Given the description of an element on the screen output the (x, y) to click on. 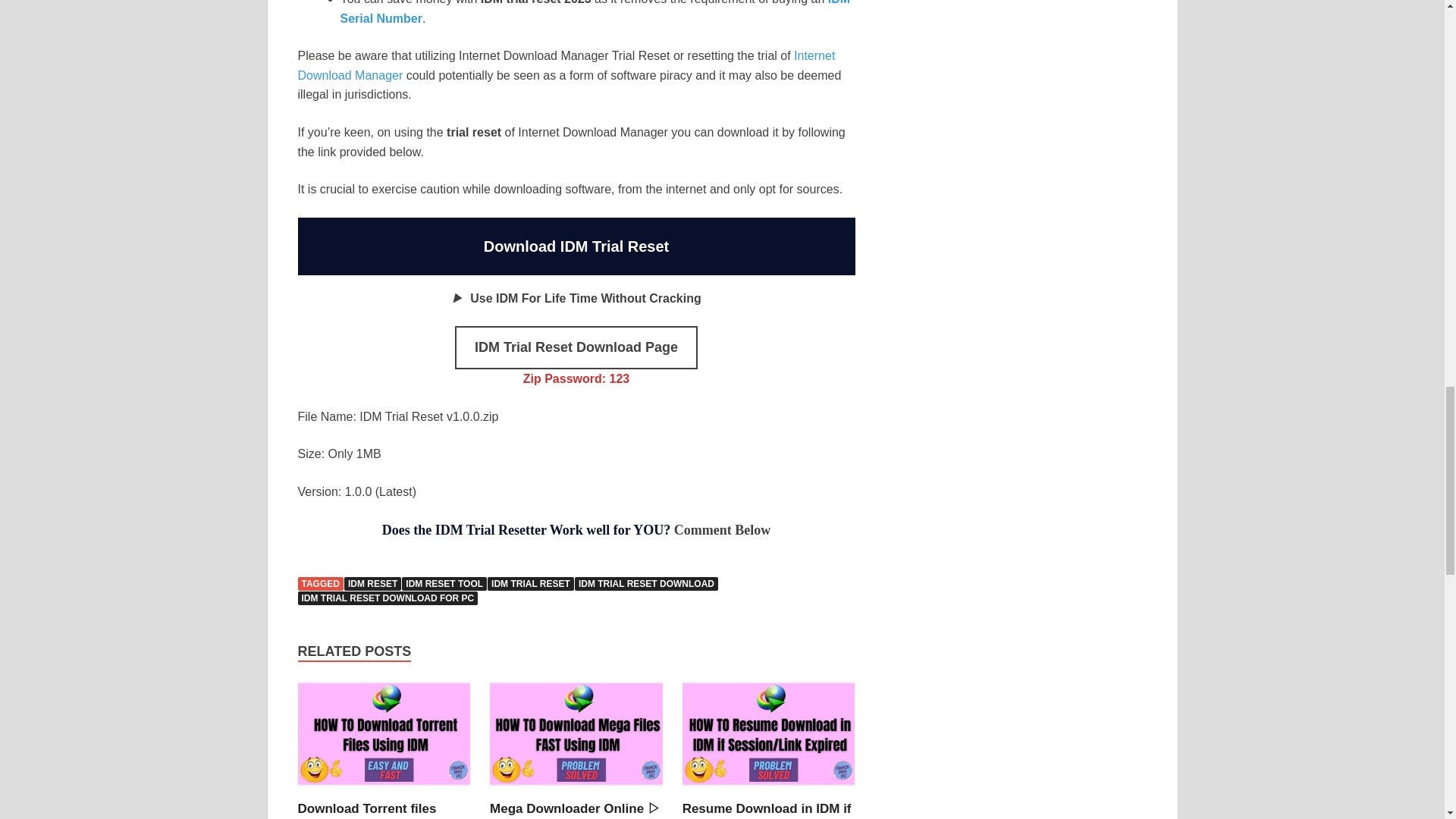
Download Torrent files using IDM Complete Guide Here! 2024 (379, 810)
Download Torrent files using IDM Complete Guide Here! 2024 (383, 790)
